Given the description of an element on the screen output the (x, y) to click on. 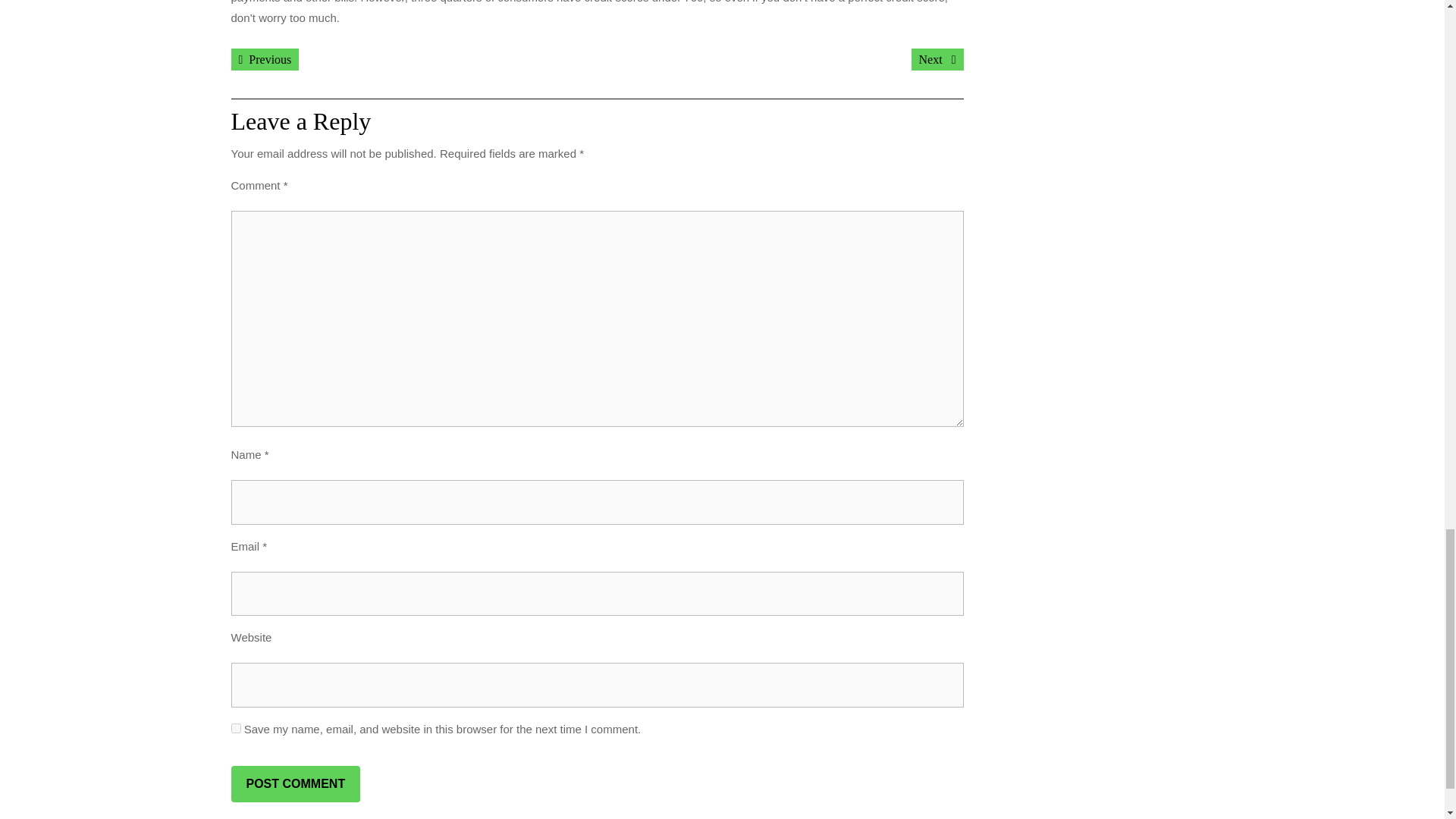
Post Comment (264, 59)
yes (937, 59)
Post Comment (294, 784)
